Given the description of an element on the screen output the (x, y) to click on. 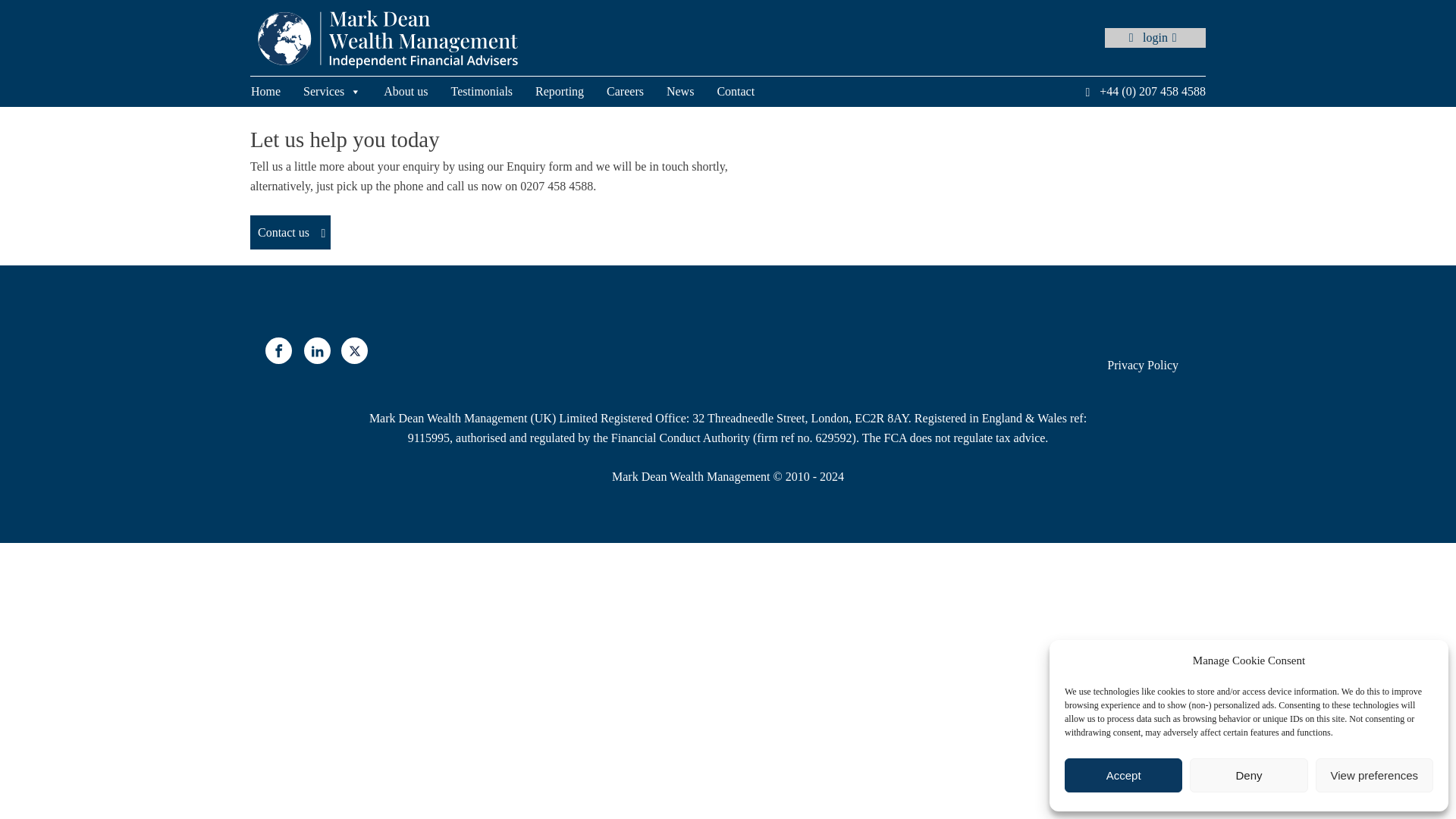
Privacy Policy (1142, 365)
Contact (746, 91)
Services (343, 91)
Home (276, 91)
login (1155, 37)
About us (416, 91)
Reporting (571, 91)
News (691, 91)
Careers (636, 91)
Contact us (290, 232)
Testimonials (493, 91)
